Given the description of an element on the screen output the (x, y) to click on. 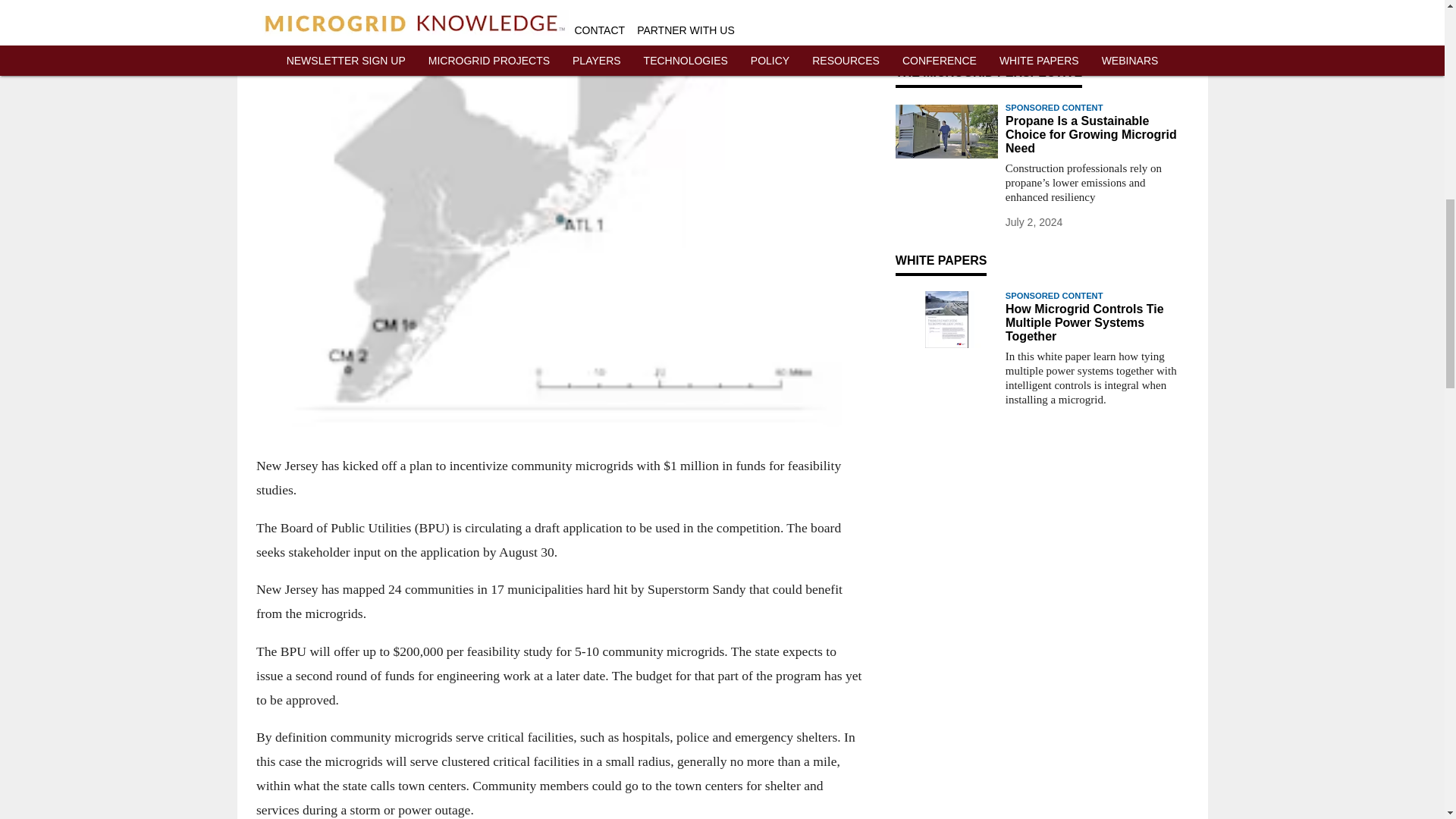
RR301.pg (946, 319)
Europa Lag: Why Microgrid Adoption is Slower Across the Pond (1097, 12)
